Given the description of an element on the screen output the (x, y) to click on. 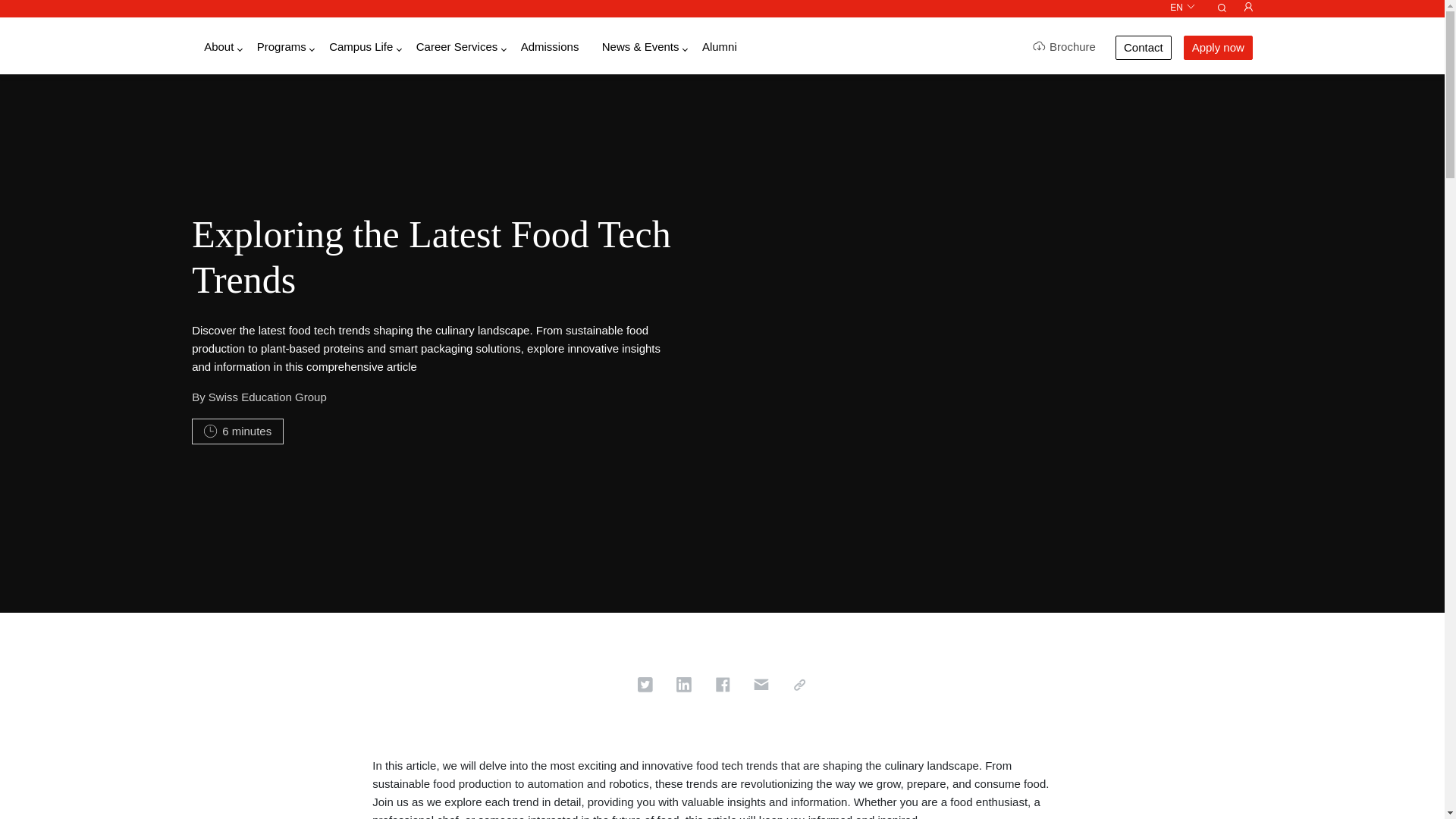
EN (1182, 7)
Alumni (718, 46)
Admissions (550, 46)
Brochure (1064, 47)
Contact (1143, 47)
Apply now (1217, 47)
